Given the description of an element on the screen output the (x, y) to click on. 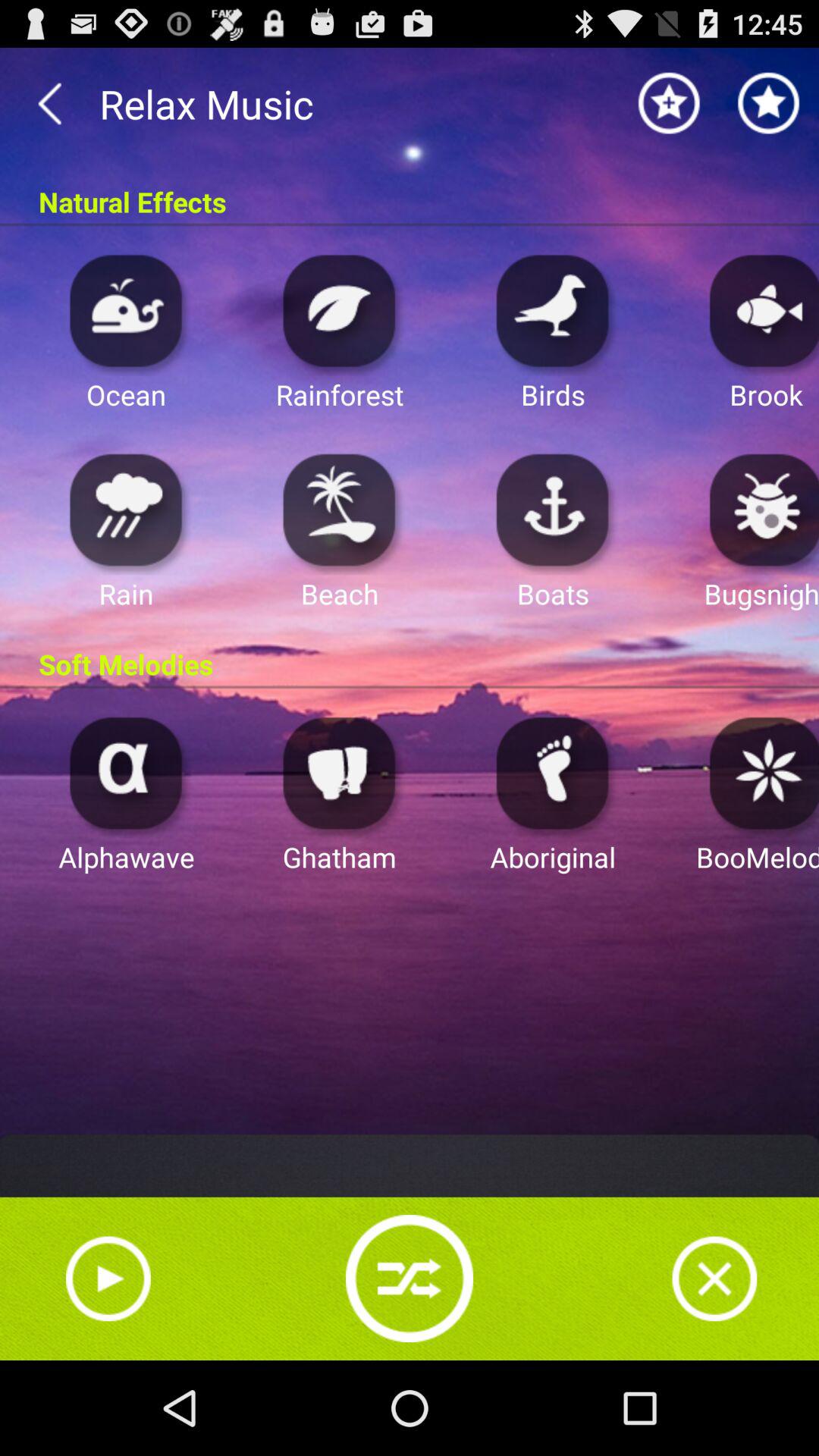
alphaware (126, 772)
